Given the description of an element on the screen output the (x, y) to click on. 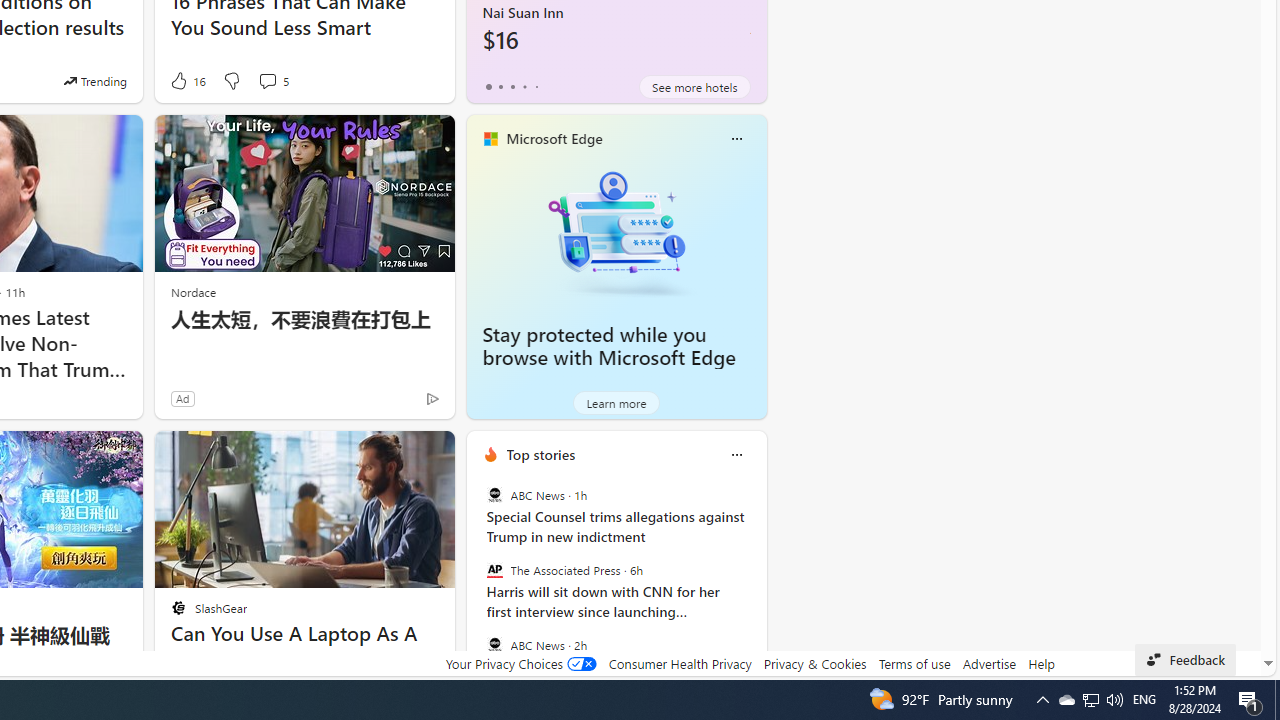
See more hotels (694, 86)
tab-3 (524, 86)
16 Like (186, 80)
View comments 5 Comment (267, 80)
Consumer Health Privacy (680, 663)
